Given the description of an element on the screen output the (x, y) to click on. 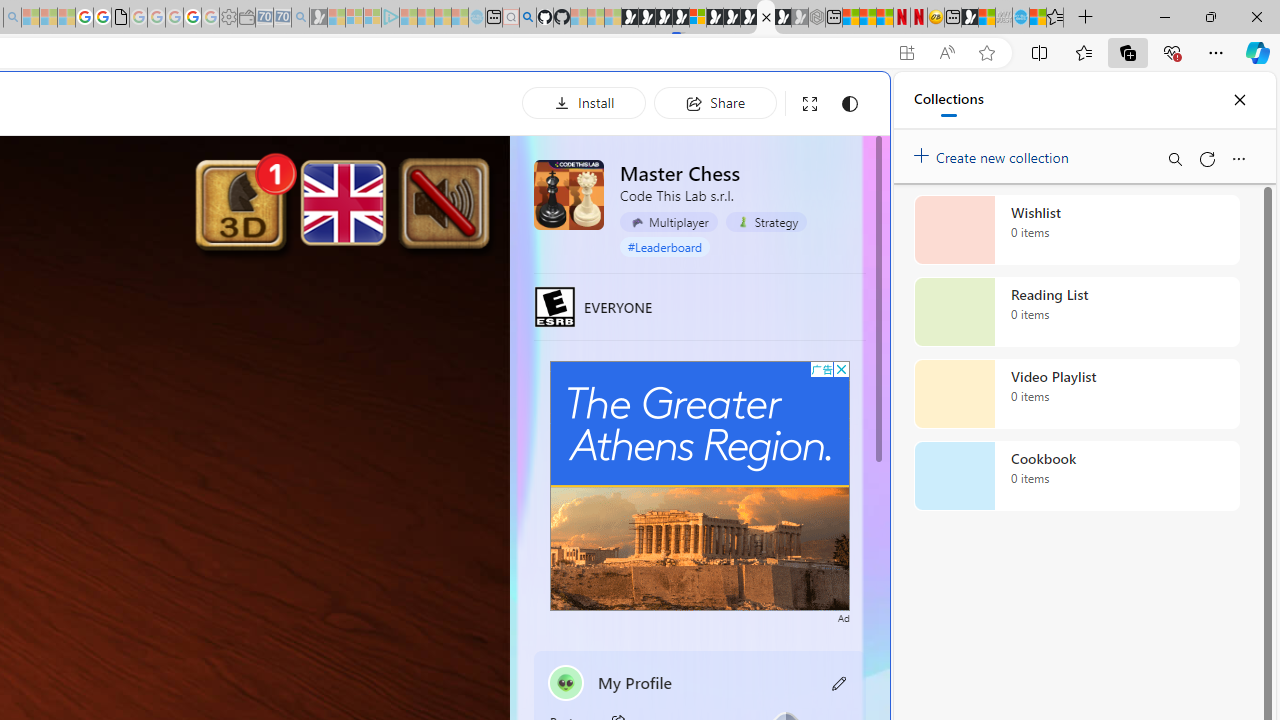
Wallet - Sleeping (246, 17)
Wishlist collection, 0 items (1076, 229)
Services - Maintenance | Sky Blue Bikes - Sky Blue Bikes (1020, 17)
Home | Sky Blue Bikes - Sky Blue Bikes (687, 426)
Full screen (810, 103)
Install (583, 102)
